Given the description of an element on the screen output the (x, y) to click on. 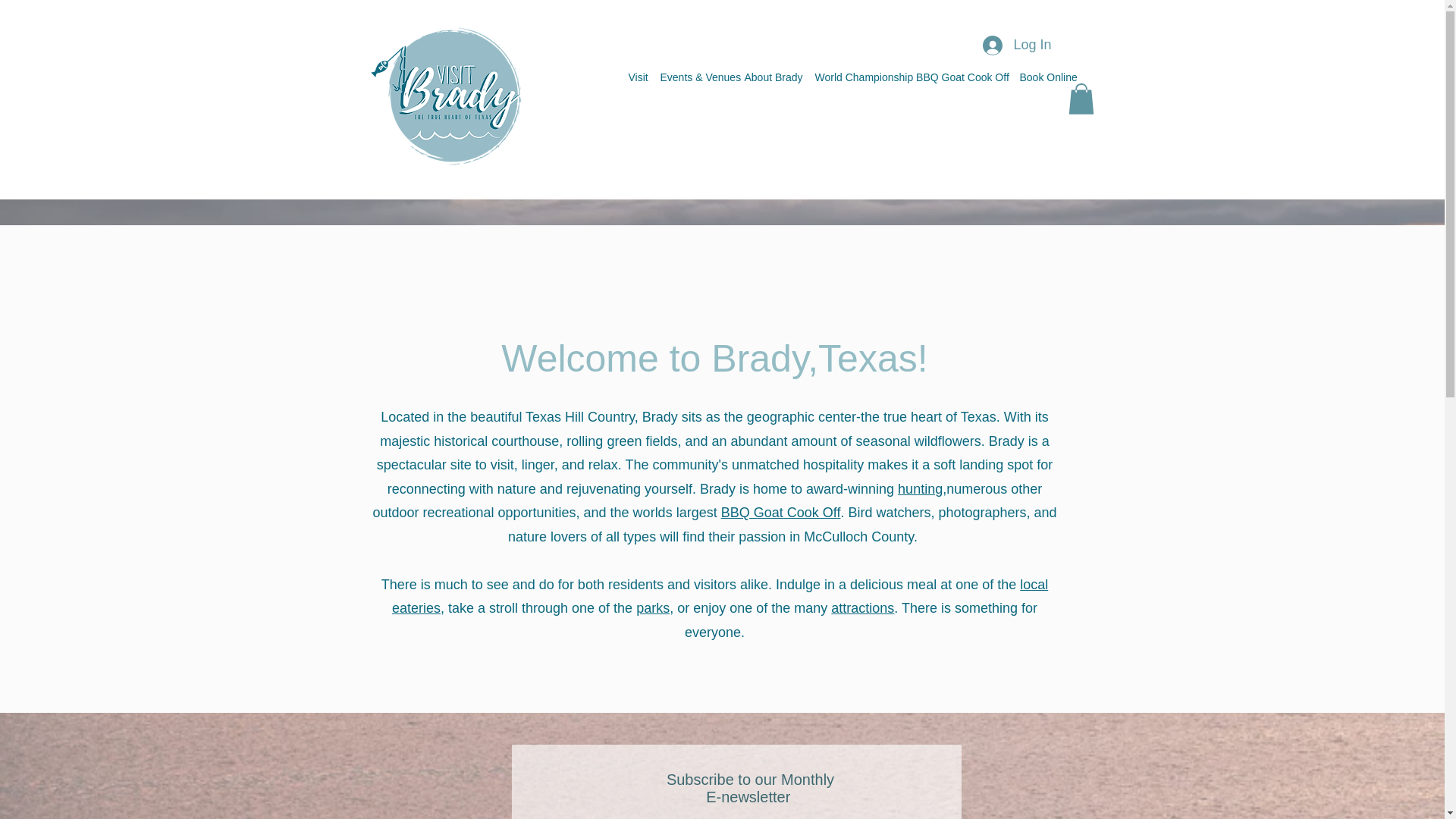
hunting (920, 488)
Book Online (1046, 77)
attractions (862, 607)
Log In (1016, 45)
BBQ Goat Cook Off (780, 512)
parks (652, 607)
local eateries (719, 595)
